Given the description of an element on the screen output the (x, y) to click on. 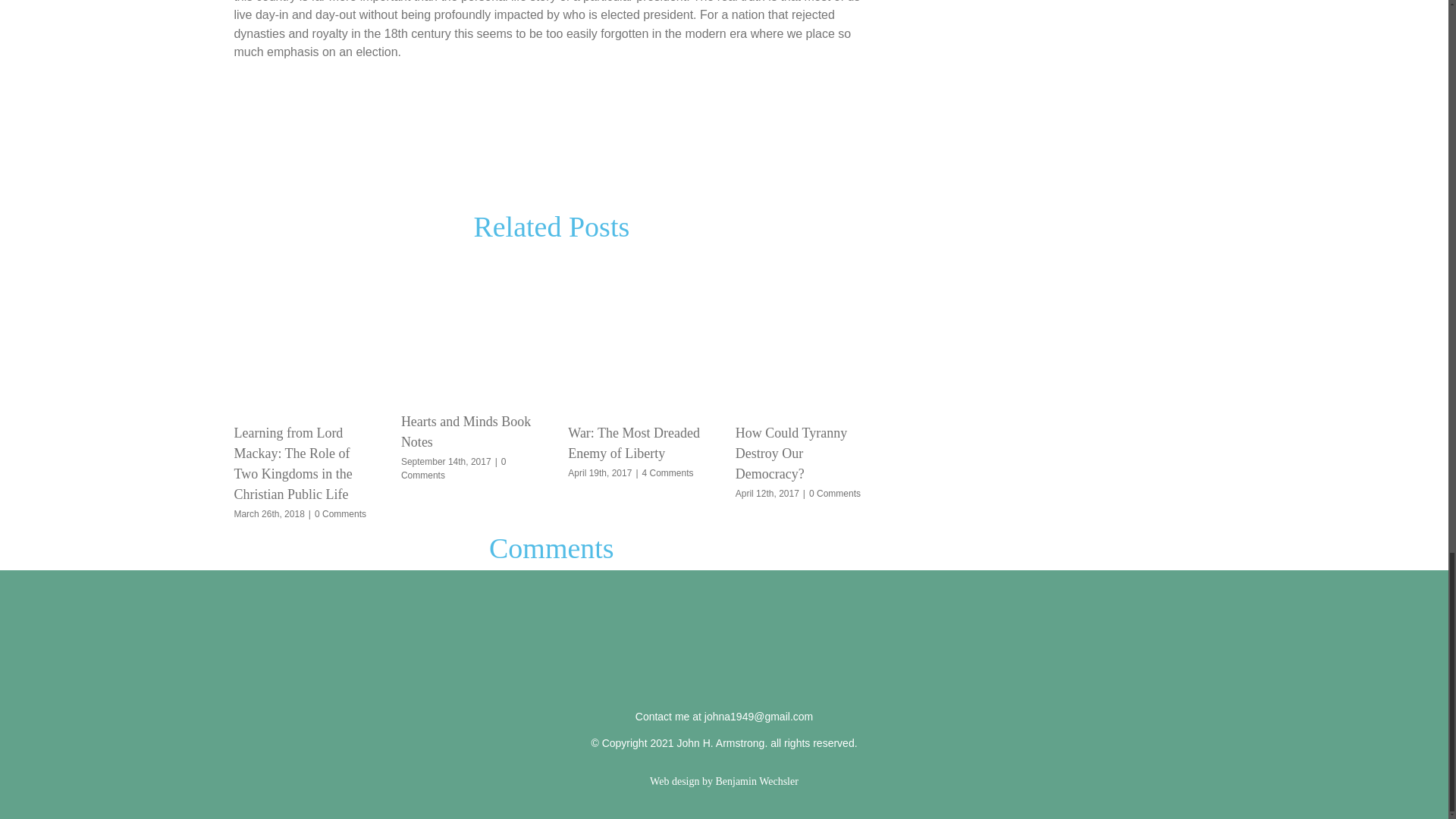
Hearts and Minds Book Notes (466, 431)
Hearts and Minds Book Notes (466, 431)
0 Comments (834, 493)
How Could Tyranny Destroy Our Democracy? (791, 453)
0 Comments (453, 468)
War: The Most Dreaded Enemy of Liberty (633, 443)
0 Comments (340, 513)
How Could Tyranny Destroy Our Democracy? (791, 453)
